Given the description of an element on the screen output the (x, y) to click on. 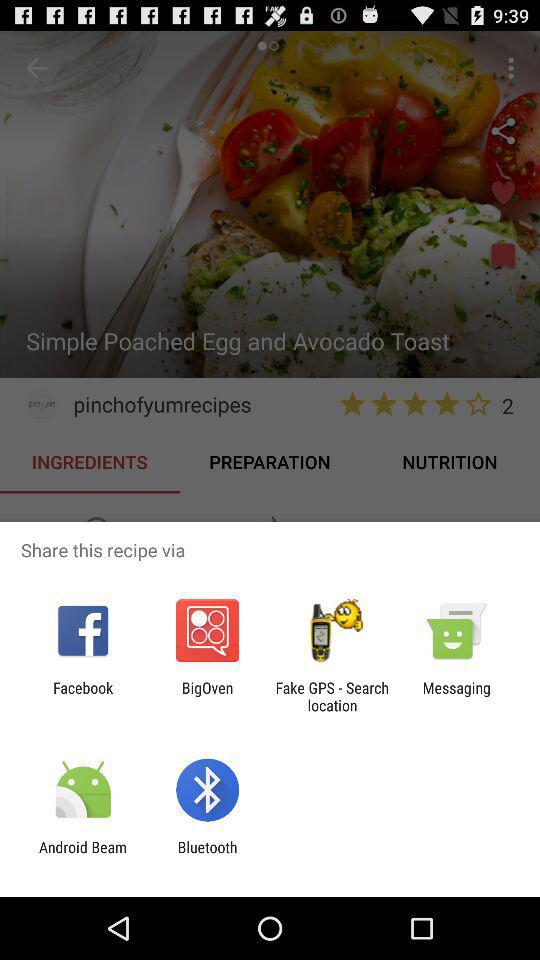
tap the app next to messaging item (332, 696)
